Given the description of an element on the screen output the (x, y) to click on. 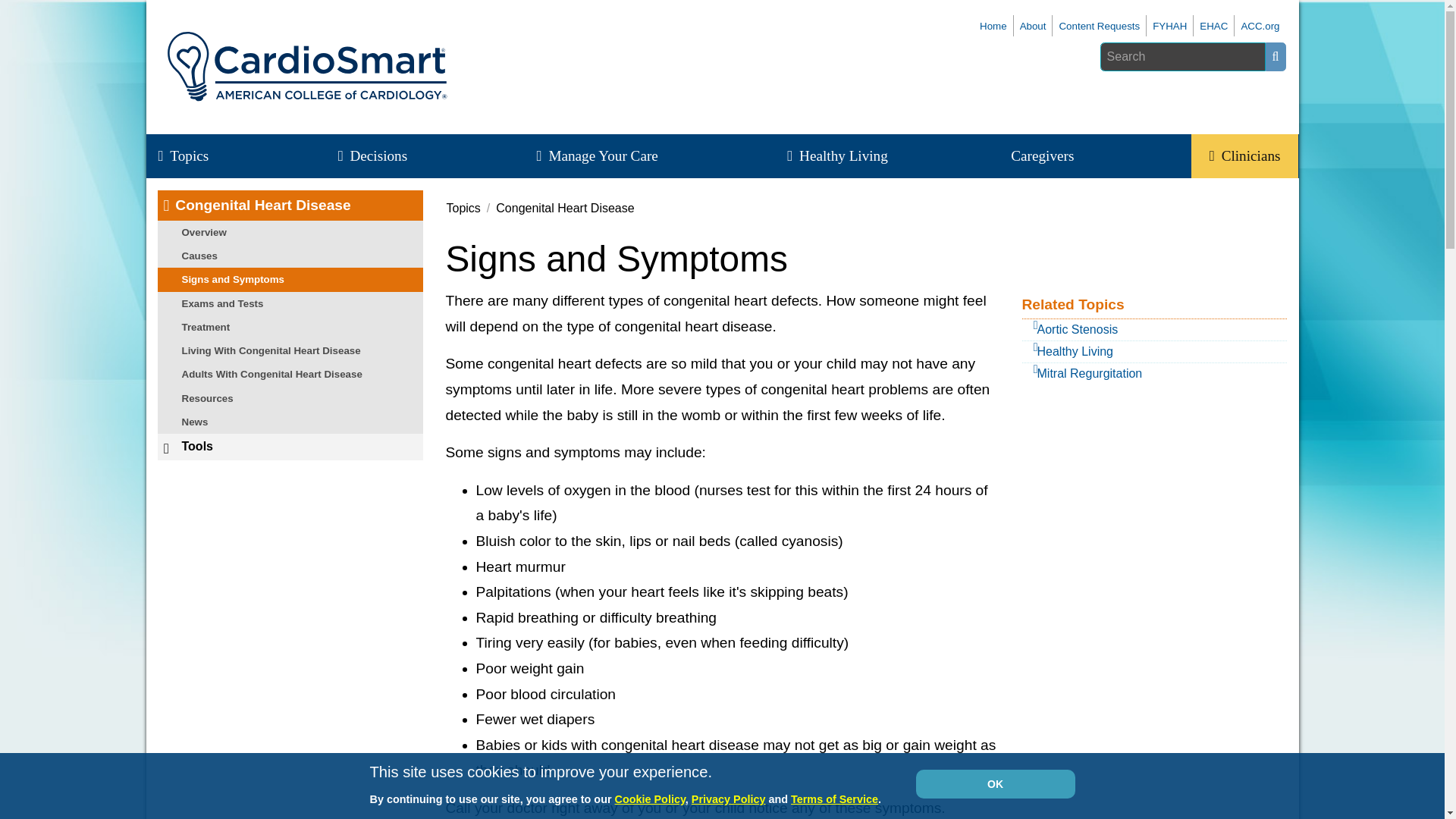
Content Requests (1099, 25)
Home (993, 25)
EHAC (1213, 25)
About CardioSmart (1033, 25)
American College of Cardiology (1259, 25)
CardioSmart (993, 25)
About CardioSmart (1099, 25)
About (1033, 25)
Topics (192, 156)
ACC.org (1259, 25)
Early Heart Attack Care (1213, 25)
FYHAH (1169, 25)
